Given the description of an element on the screen output the (x, y) to click on. 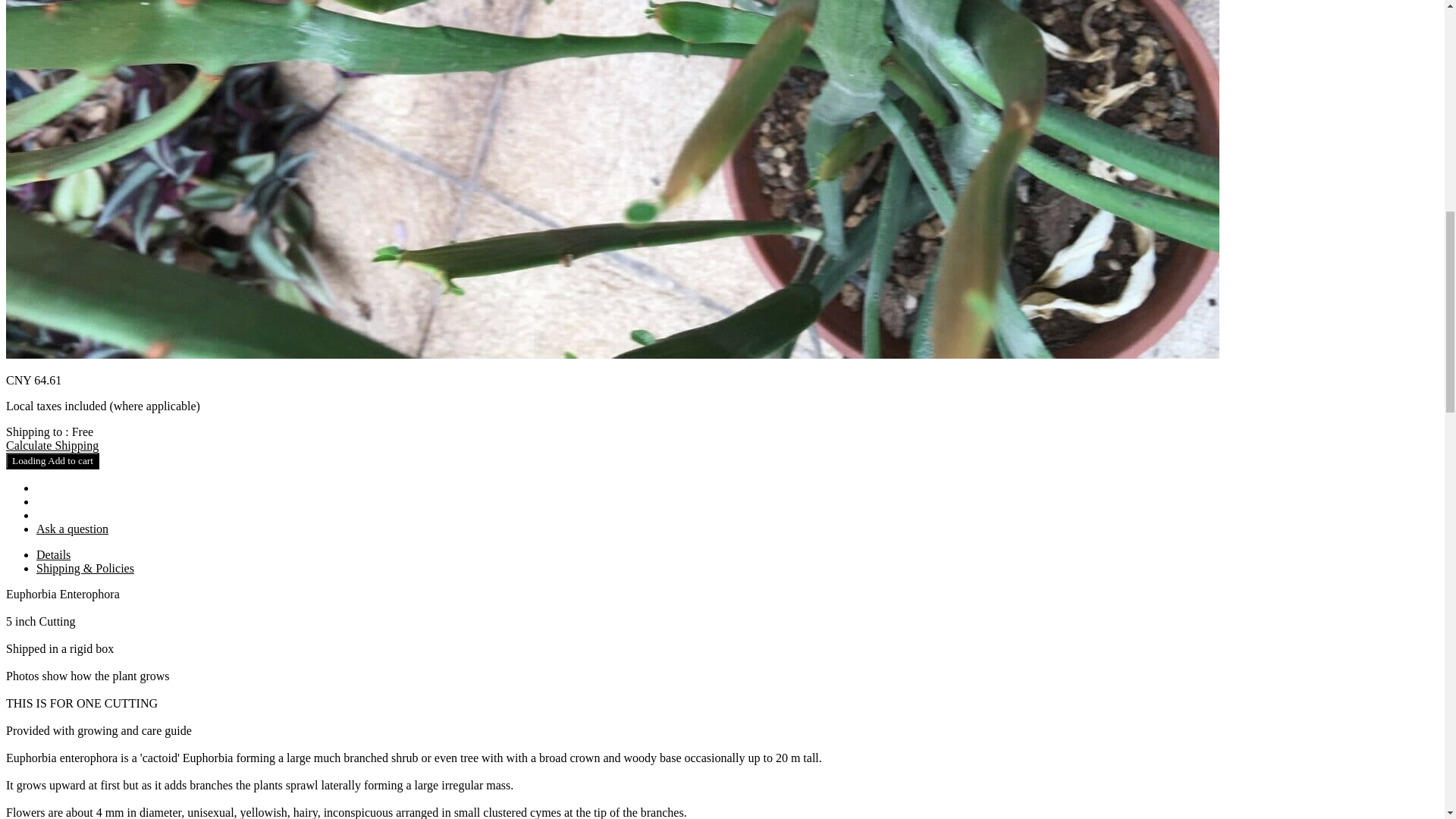
Calculate Shipping (52, 445)
Ask a question (71, 528)
Details (52, 554)
Loading Add to cart (52, 460)
